Given the description of an element on the screen output the (x, y) to click on. 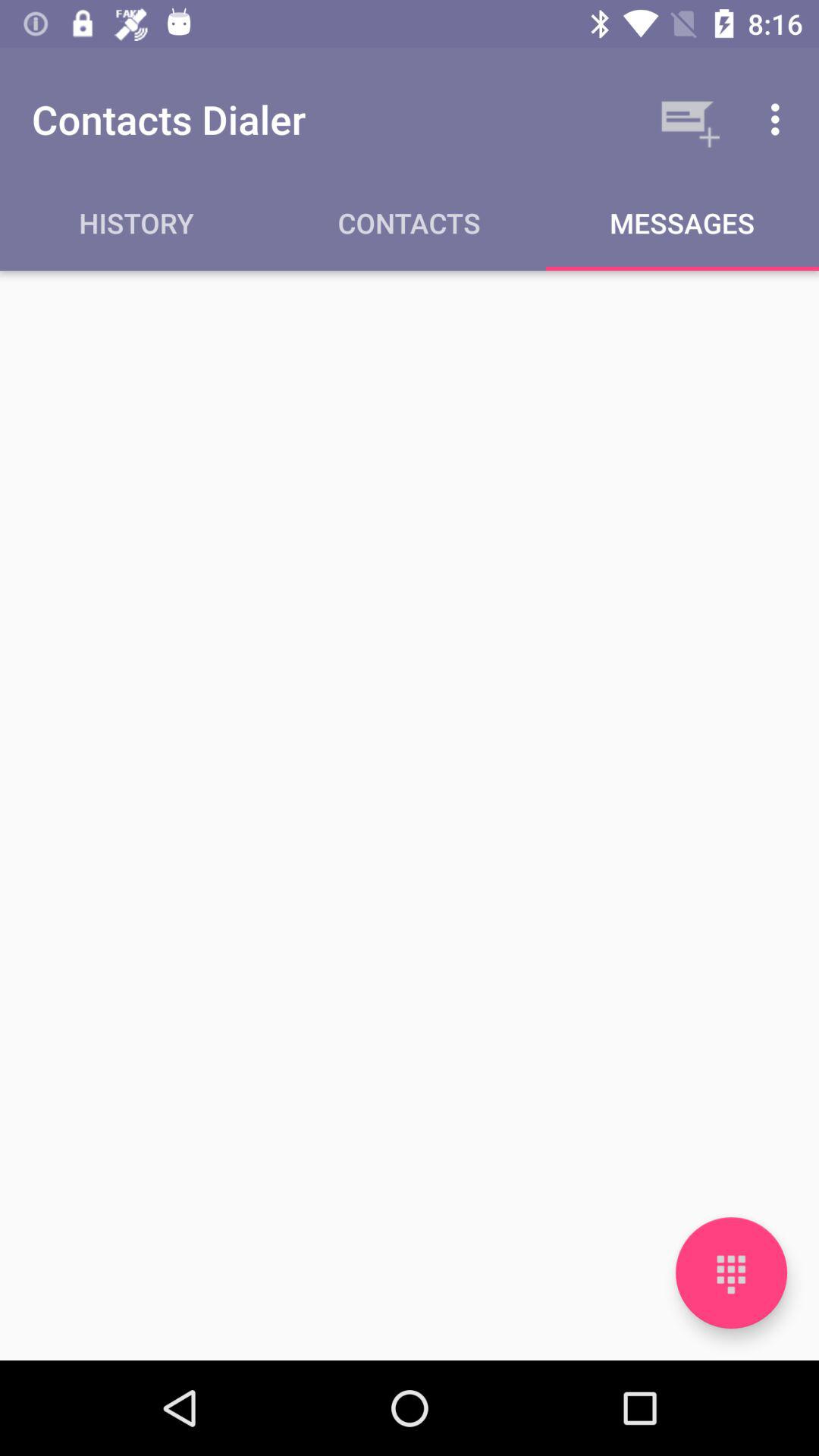
click item above the messages (779, 119)
